Given the description of an element on the screen output the (x, y) to click on. 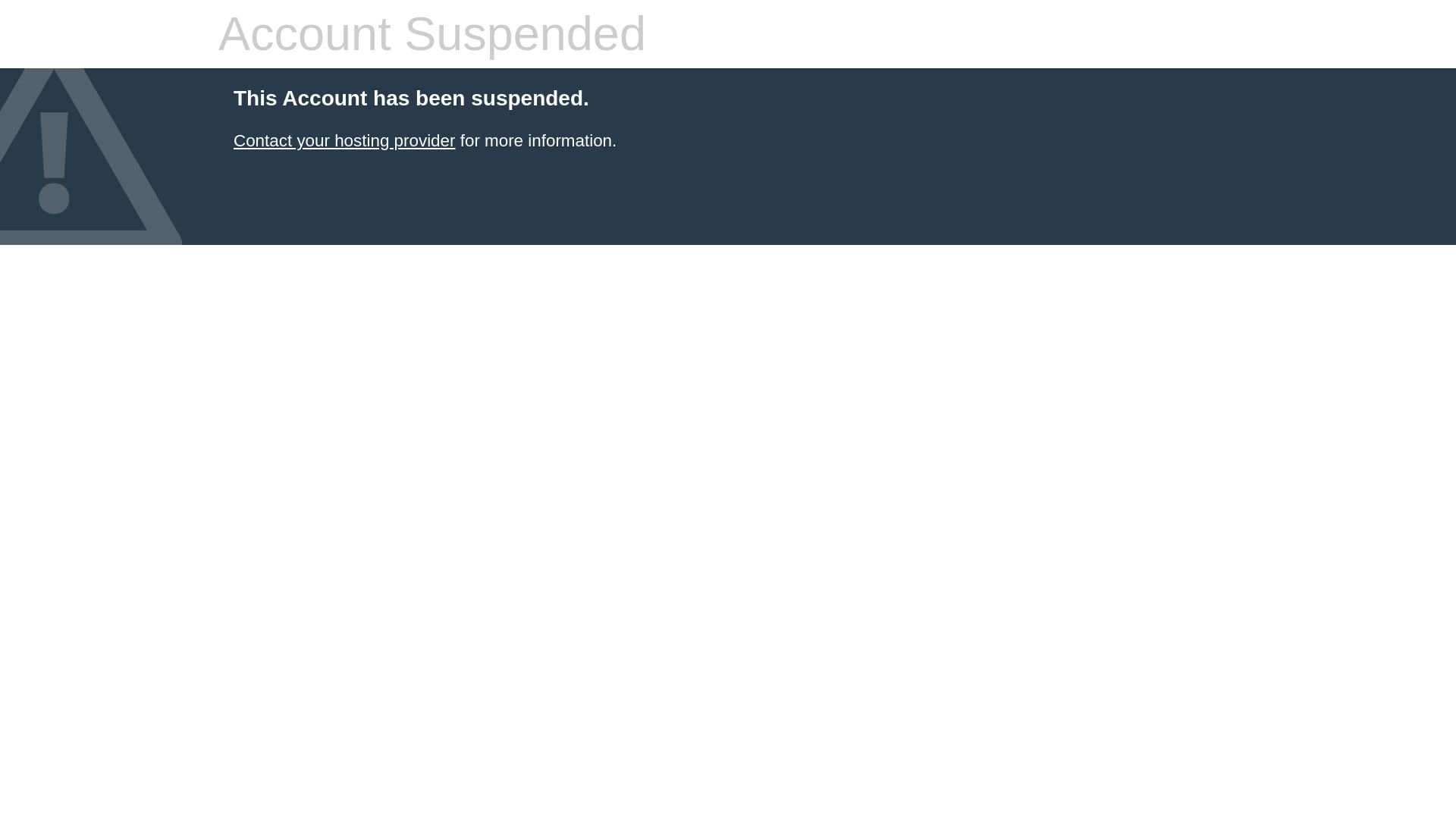
Contact your hosting provider (343, 140)
